Given the description of an element on the screen output the (x, y) to click on. 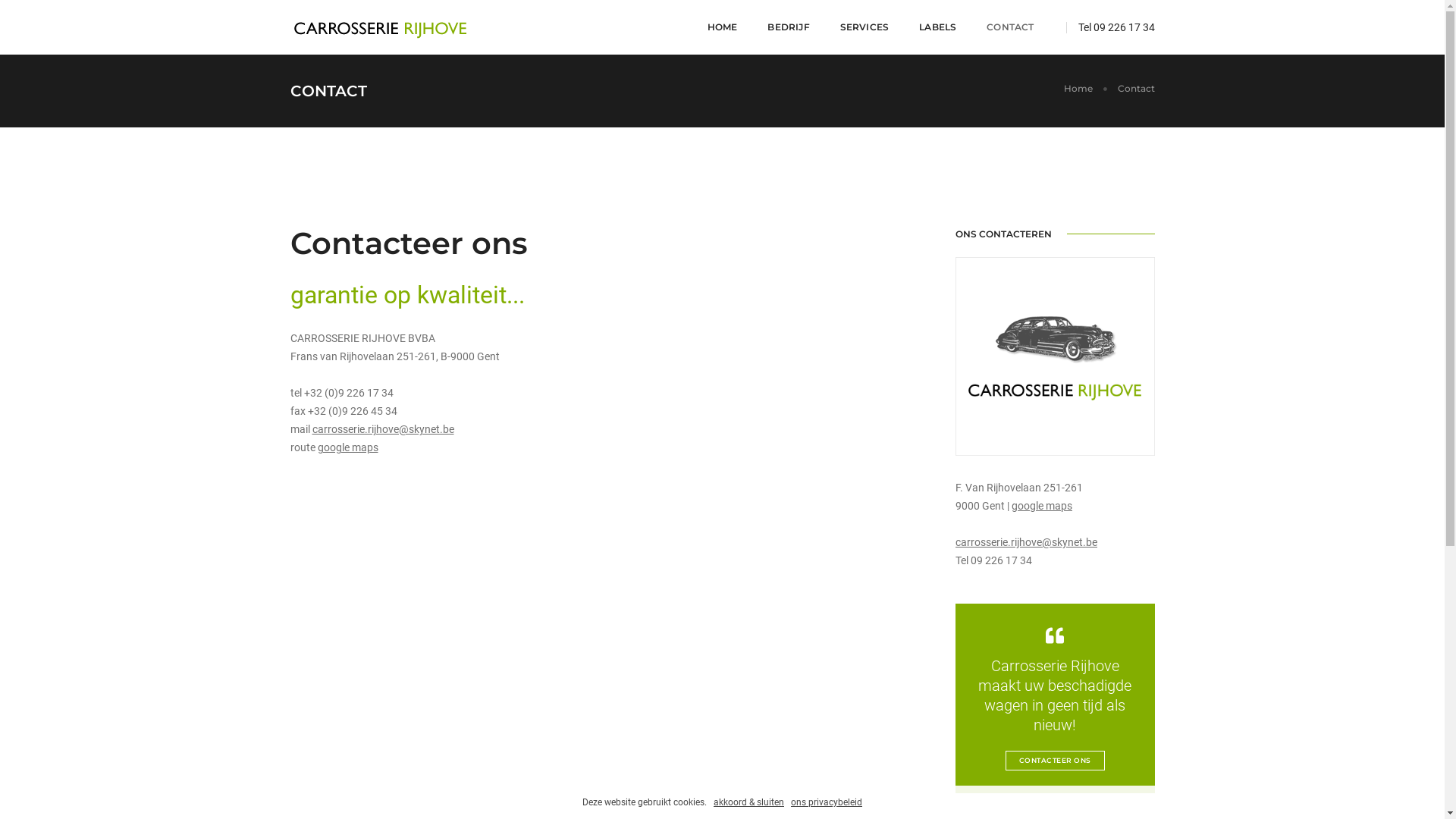
HOME Element type: text (722, 27)
Carrosserie Rijhove Element type: hover (380, 26)
LABELS Element type: text (937, 27)
carrosserie.rijhove@skynet.be Element type: text (1026, 542)
carrosserie.rijhove@skynet.be Element type: text (383, 429)
CONTACT Element type: text (1009, 27)
google maps Element type: text (346, 447)
Home Element type: text (1077, 88)
akkoord & sluiten Element type: text (748, 802)
ons privacybeleid Element type: text (826, 802)
Tel 09 226 17 34 Element type: text (1116, 27)
CONTACTEER ONS Element type: text (1054, 760)
BEDRIJF Element type: text (788, 27)
google maps Element type: text (1041, 505)
SERVICES Element type: text (864, 27)
